Given the description of an element on the screen output the (x, y) to click on. 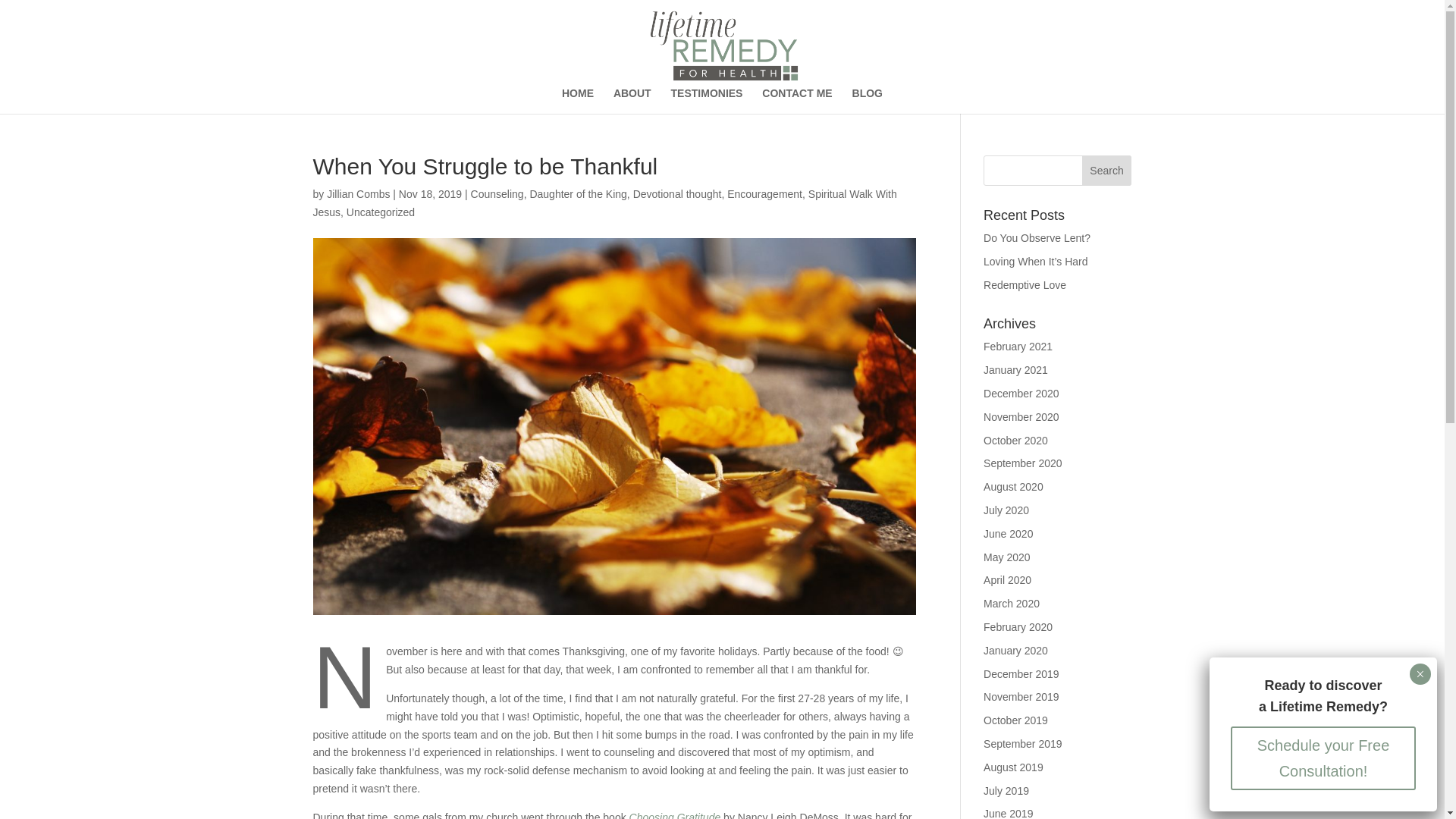
Search (1106, 170)
TESTIMONIES (706, 100)
Devotional thought (677, 193)
January 2021 (1016, 369)
Do You Observe Lent? (1037, 237)
Redemptive Love (1024, 285)
HOME (578, 100)
ABOUT (631, 100)
Search (1106, 170)
June 2020 (1008, 533)
Spiritual Walk With Jesus (604, 203)
August 2020 (1013, 486)
CONTACT ME (796, 100)
Encouragement (764, 193)
July 2020 (1006, 510)
